Given the description of an element on the screen output the (x, y) to click on. 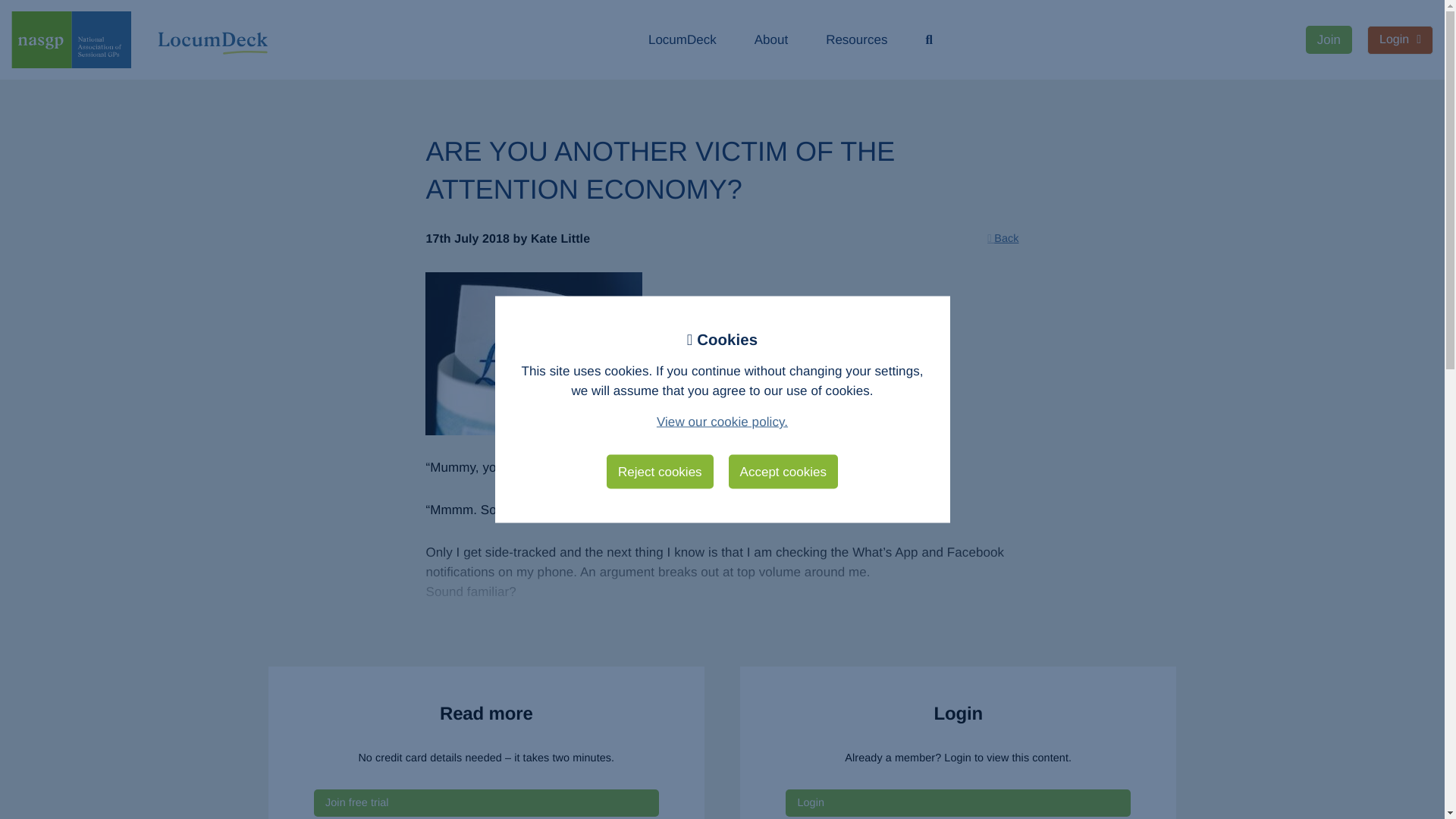
Login (1399, 39)
Reject cookies (660, 471)
Join (1329, 39)
View our cookie policy. (721, 421)
LocumDeck (682, 39)
Resources (855, 39)
About (770, 39)
Accept cookies (783, 471)
